Given the description of an element on the screen output the (x, y) to click on. 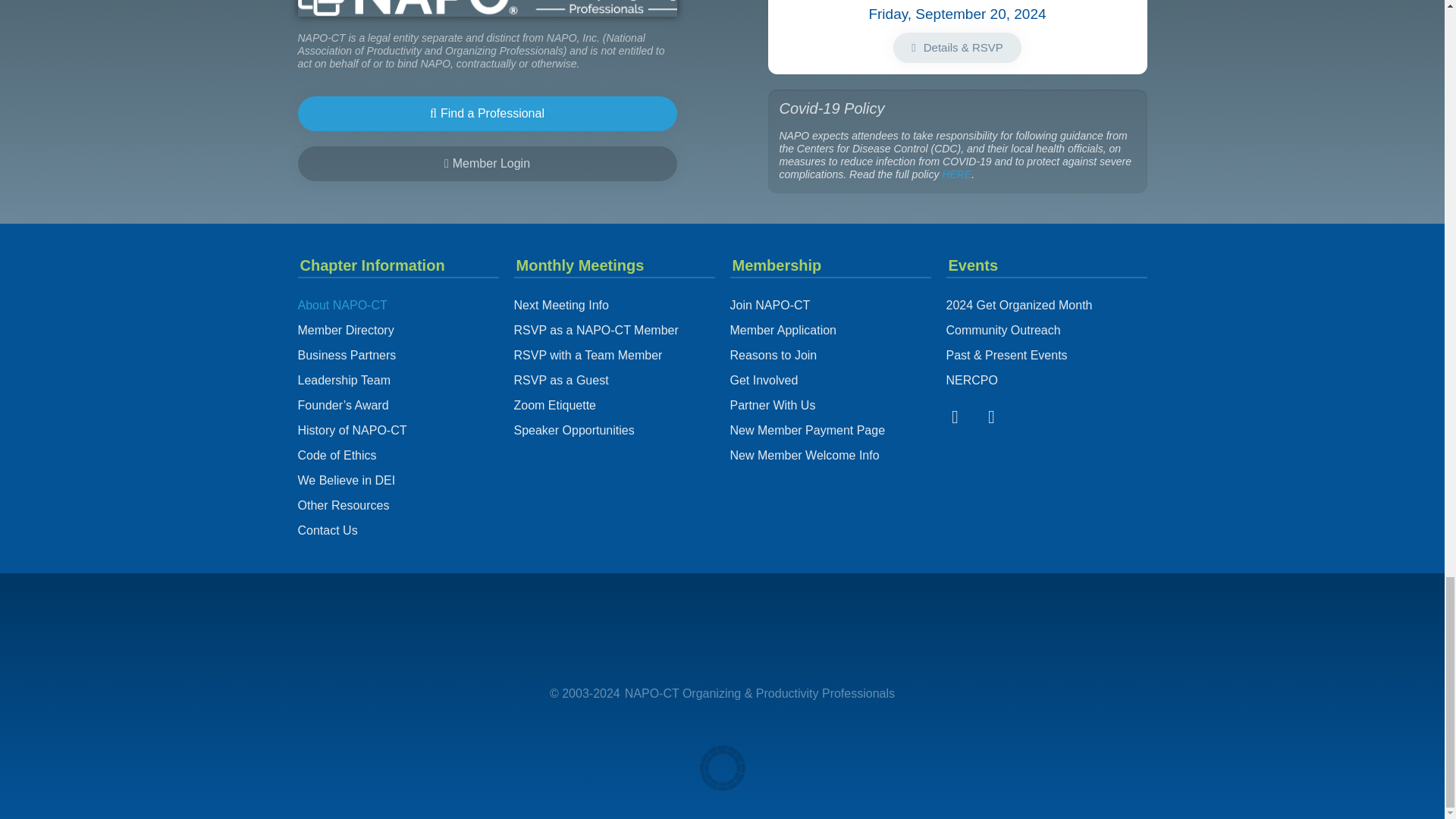
Find a Professional (487, 113)
Member Login (487, 163)
Designed by Chroma Sites (721, 768)
